Given the description of an element on the screen output the (x, y) to click on. 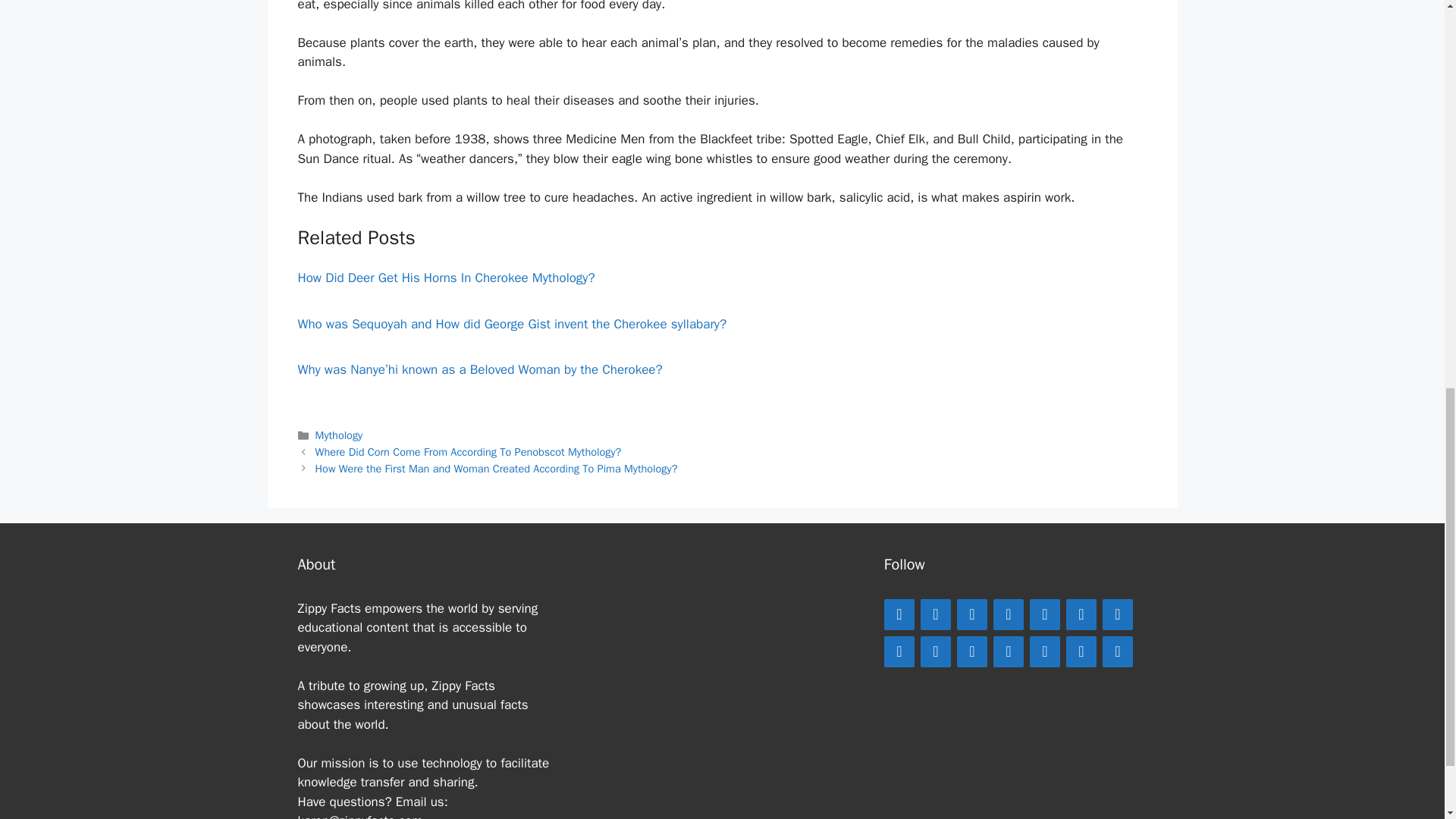
Github (1044, 650)
Twitter (971, 613)
Flickr (1080, 650)
How Did Deer Get His Horns In Cherokee Mythology? (445, 277)
How Did Deer Get His Horns In Cherokee Mythology? (445, 277)
Mixcloud (1007, 650)
Facebook (898, 613)
Mythology (338, 435)
Yahoo (1117, 650)
LinkedIn (1007, 613)
Tumblr (971, 650)
YouTube (1080, 613)
Reddit (1117, 613)
